Given the description of an element on the screen output the (x, y) to click on. 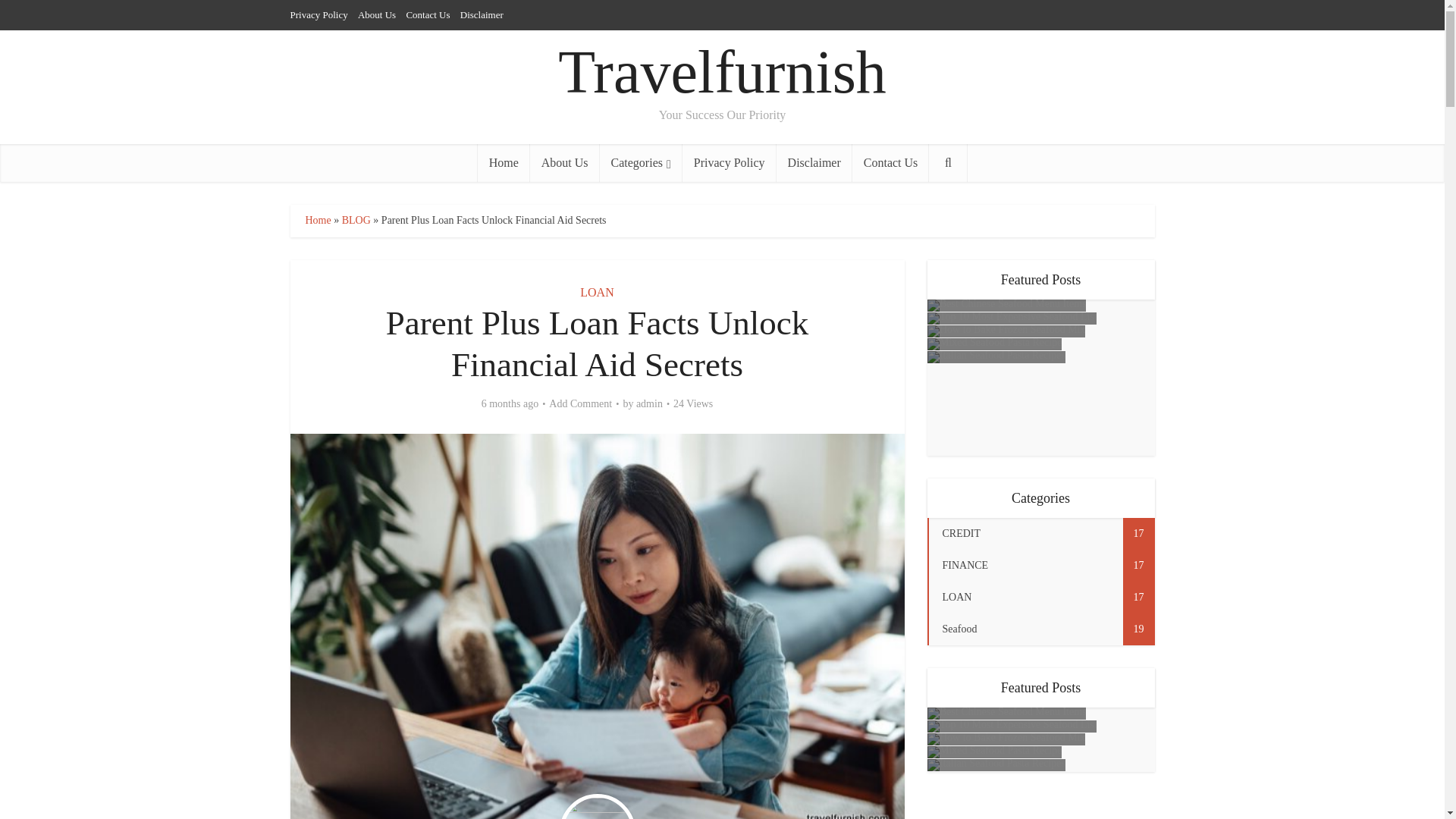
Travelfurnish (721, 71)
Disclaimer (813, 162)
Disclaimer (481, 14)
BLOG (356, 220)
LOAN (595, 291)
Home (503, 162)
Contact Us (427, 14)
Categories (640, 162)
Add Comment (579, 404)
admin (649, 404)
